Given the description of an element on the screen output the (x, y) to click on. 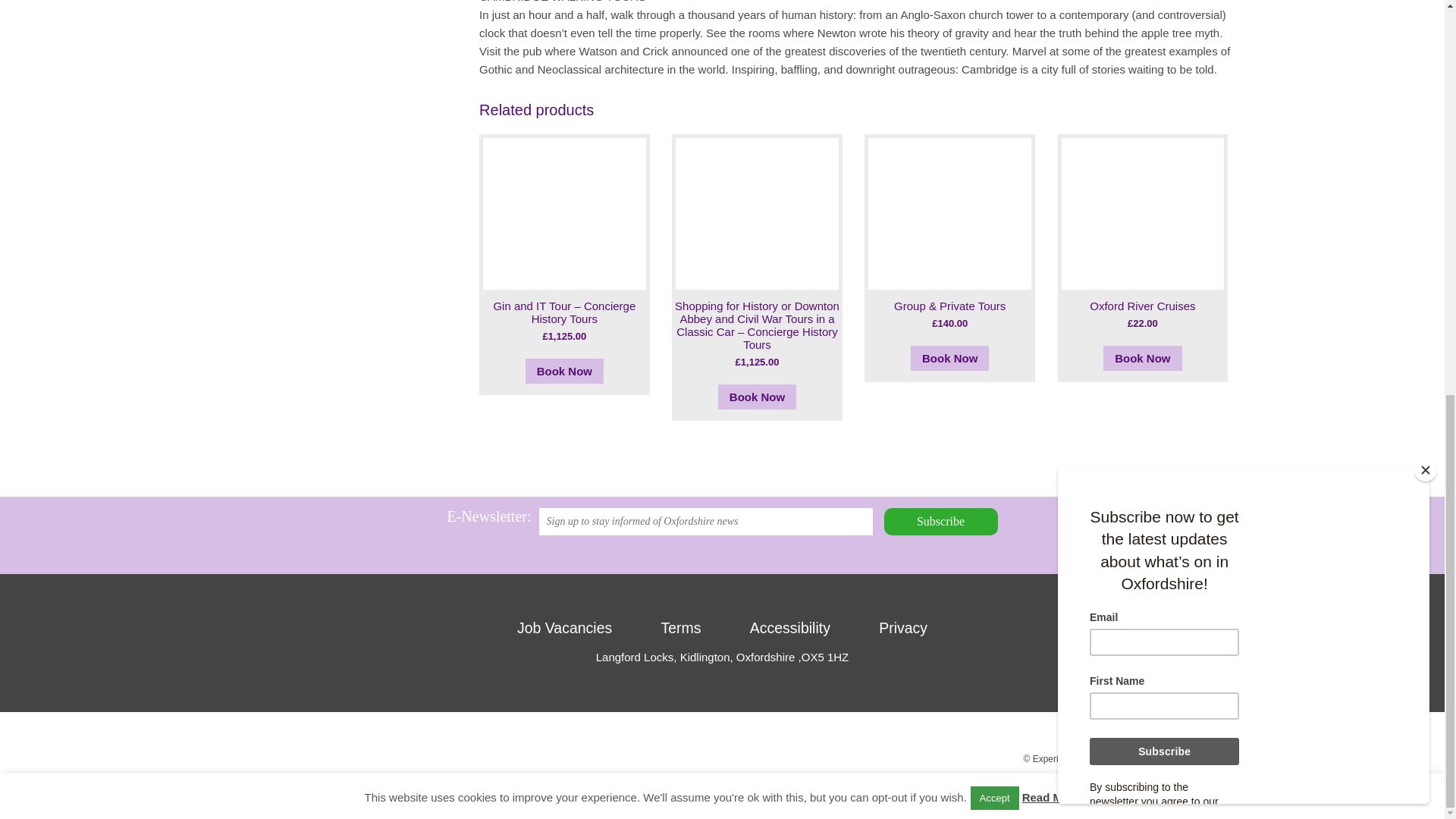
Subscribe (940, 521)
FareHarbor (1342, 121)
Oxfordshire website design agency (1202, 777)
